Given the description of an element on the screen output the (x, y) to click on. 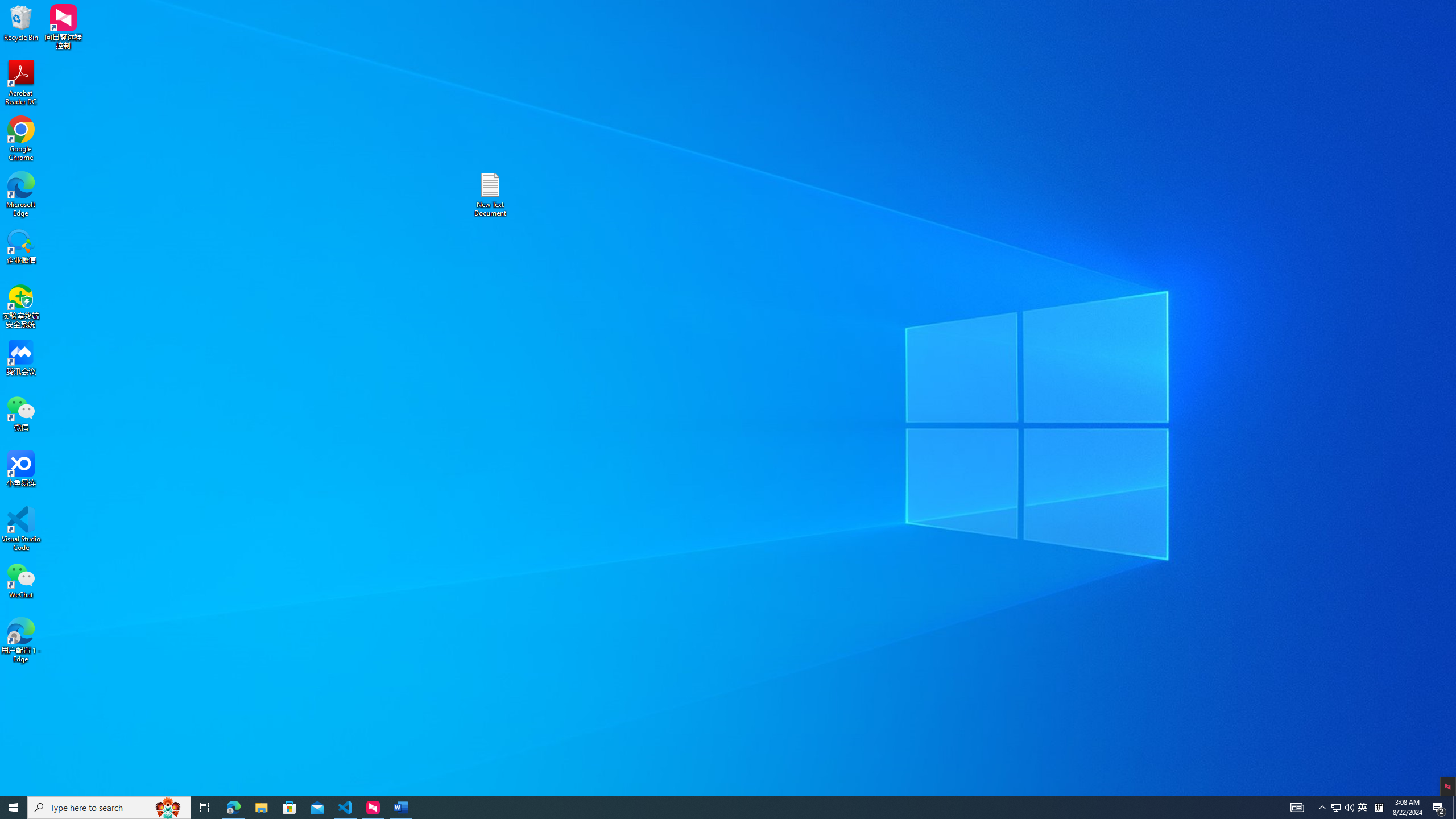
Task View (204, 807)
Running applications (707, 807)
Title (646, 56)
Font Color Red (241, 67)
Undo AutoCorrect (92, 9)
